Given the description of an element on the screen output the (x, y) to click on. 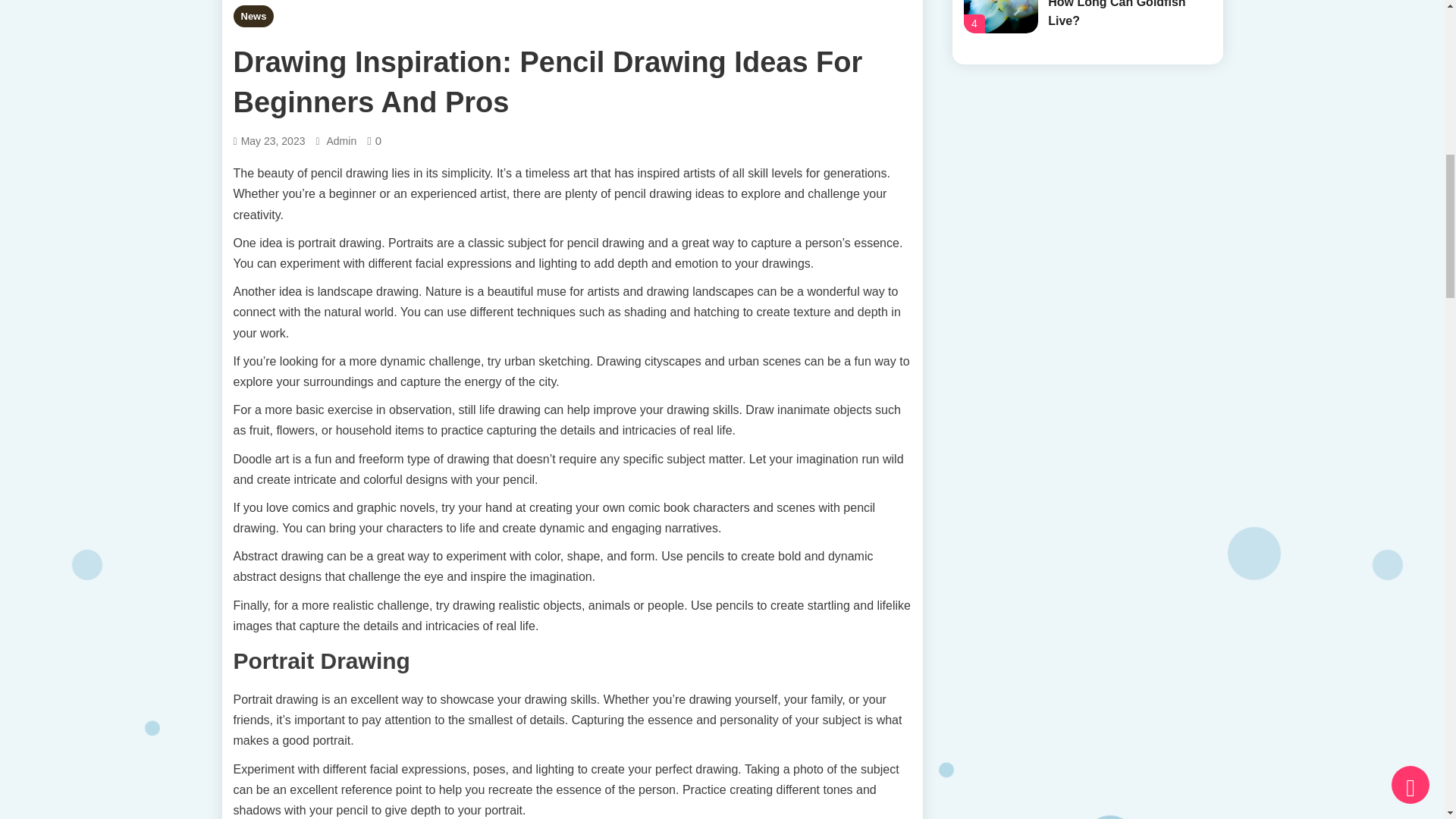
Admin (341, 140)
News (253, 15)
May 23, 2023 (273, 140)
